Given the description of an element on the screen output the (x, y) to click on. 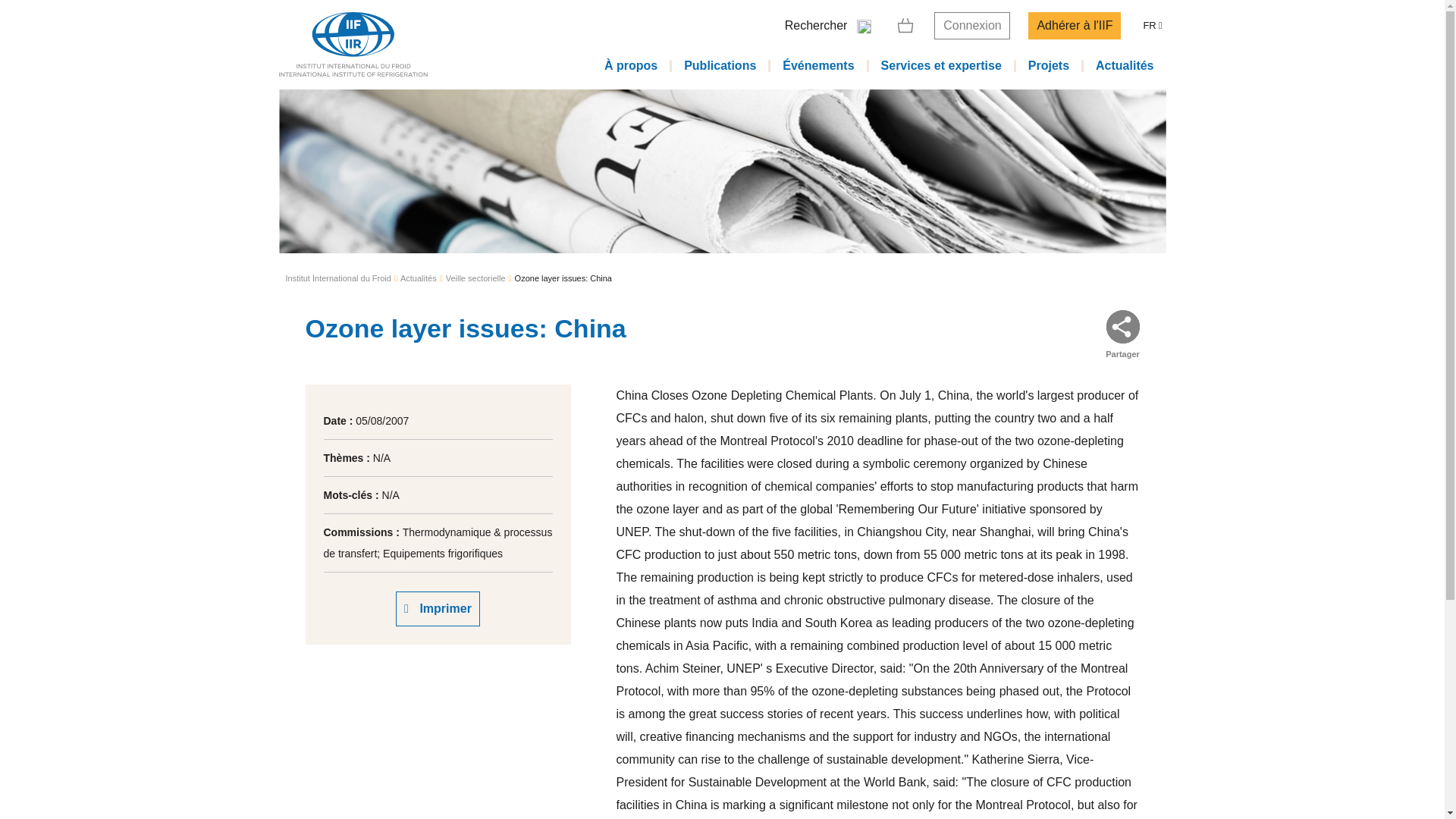
Rechercher (1078, 44)
Institut International du Froid (337, 278)
FR (1152, 25)
Rechercher (830, 25)
